Given the description of an element on the screen output the (x, y) to click on. 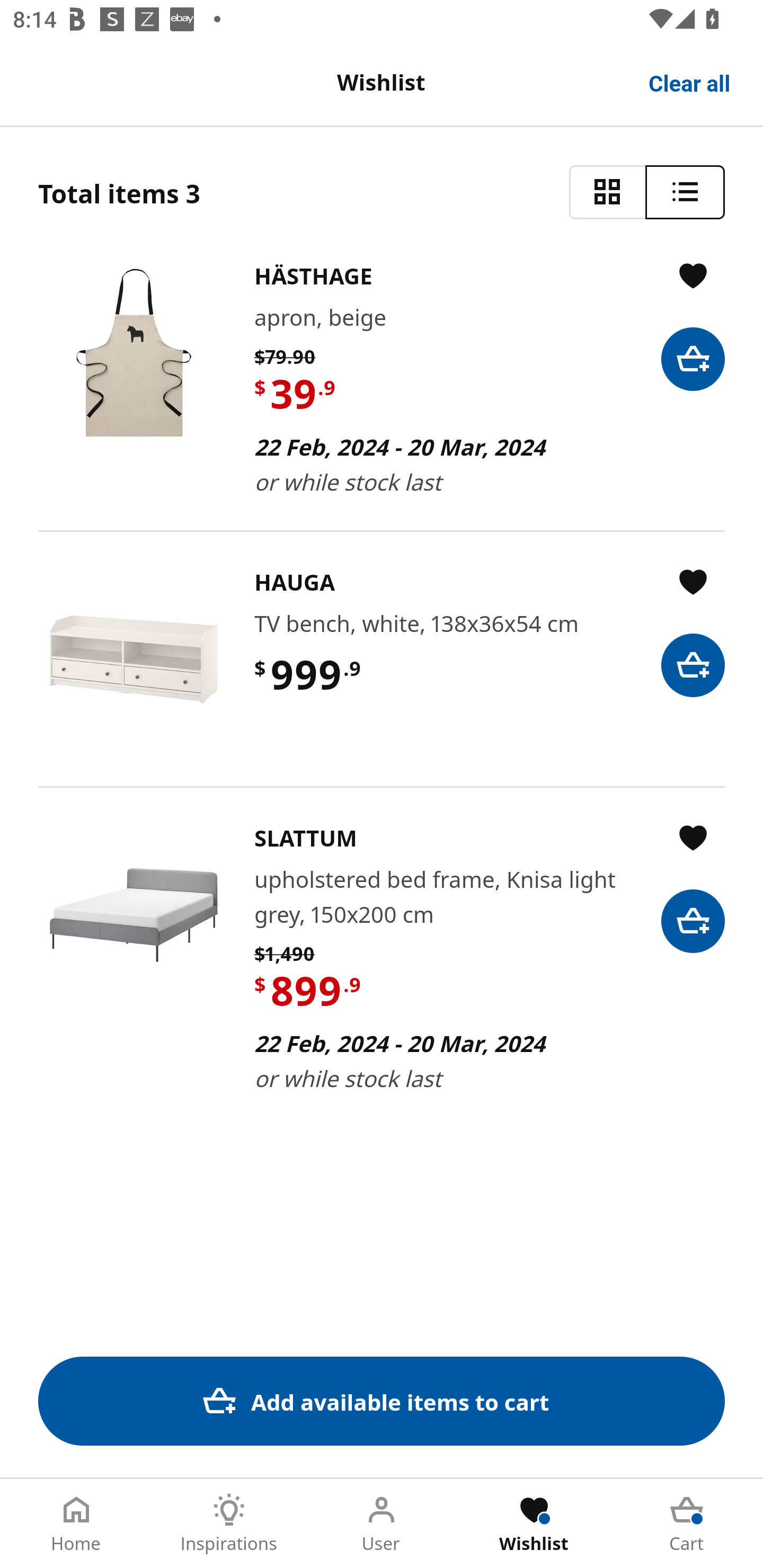
Clear all (689, 81)
​H​A​U​G​A​
TV bench, white, 138x36x54 cm
$
999
.9 (381, 658)
Add available items to cart (381, 1400)
Home
Tab 1 of 5 (76, 1522)
Inspirations
Tab 2 of 5 (228, 1522)
User
Tab 3 of 5 (381, 1522)
Wishlist
Tab 4 of 5 (533, 1522)
Cart
Tab 5 of 5 (686, 1522)
